Given the description of an element on the screen output the (x, y) to click on. 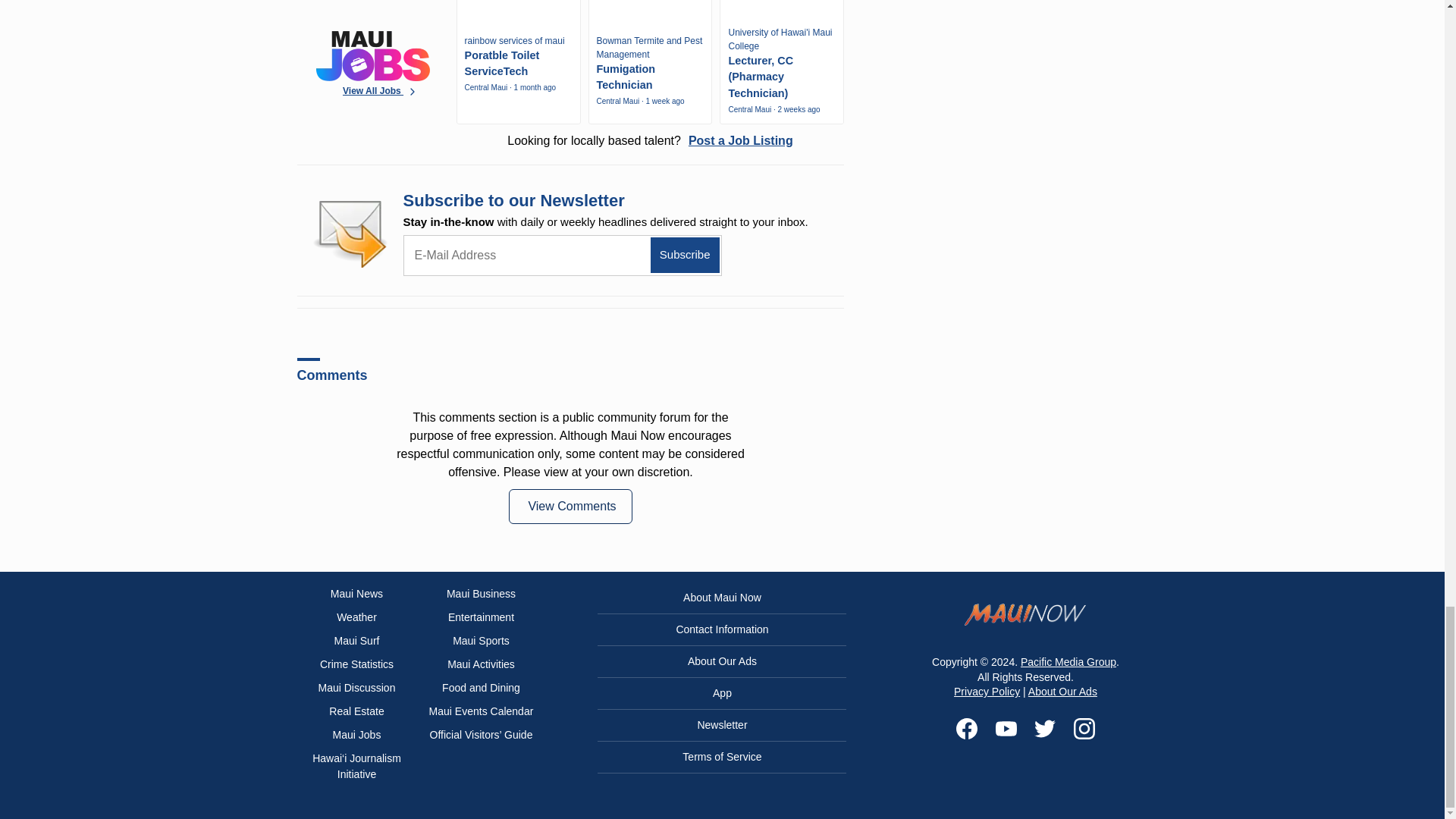
Chevron Forward (412, 91)
Instagram (1084, 728)
Subscribe (684, 254)
Twitter (1044, 728)
Facebook (966, 728)
YouTube (1005, 728)
